Given the description of an element on the screen output the (x, y) to click on. 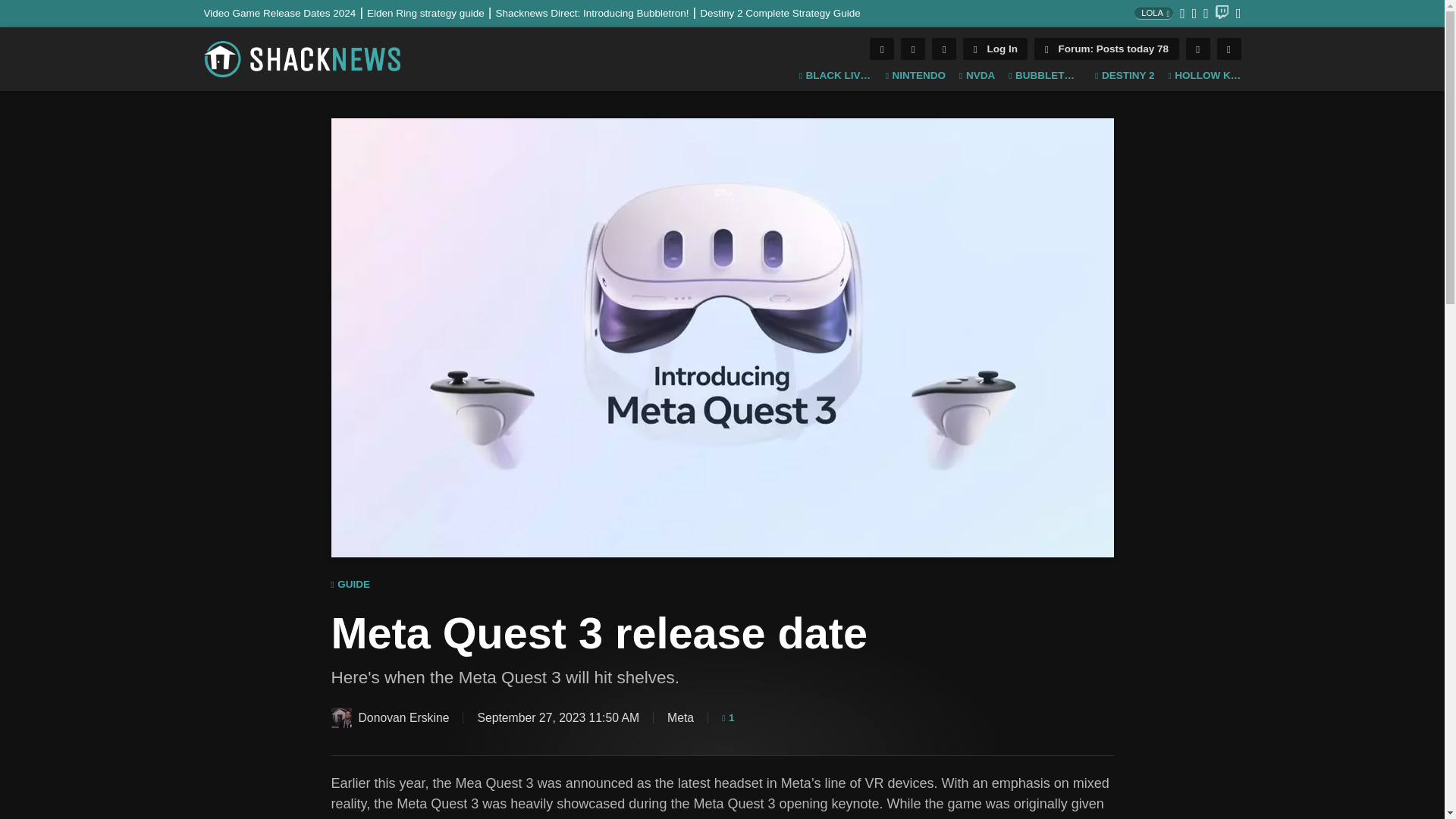
HOLLOW KNIGHT: SILKSONG (1203, 75)
GUIDE (349, 584)
NINTENDO (914, 75)
Video Game Release Dates 2024 (284, 11)
Shacknews Direct: Introducing Bubbletron! (597, 11)
DESTINY 2 (1124, 75)
NVDA (976, 75)
BUBBLETRON (1045, 75)
Donovan Erskine (340, 717)
